Given the description of an element on the screen output the (x, y) to click on. 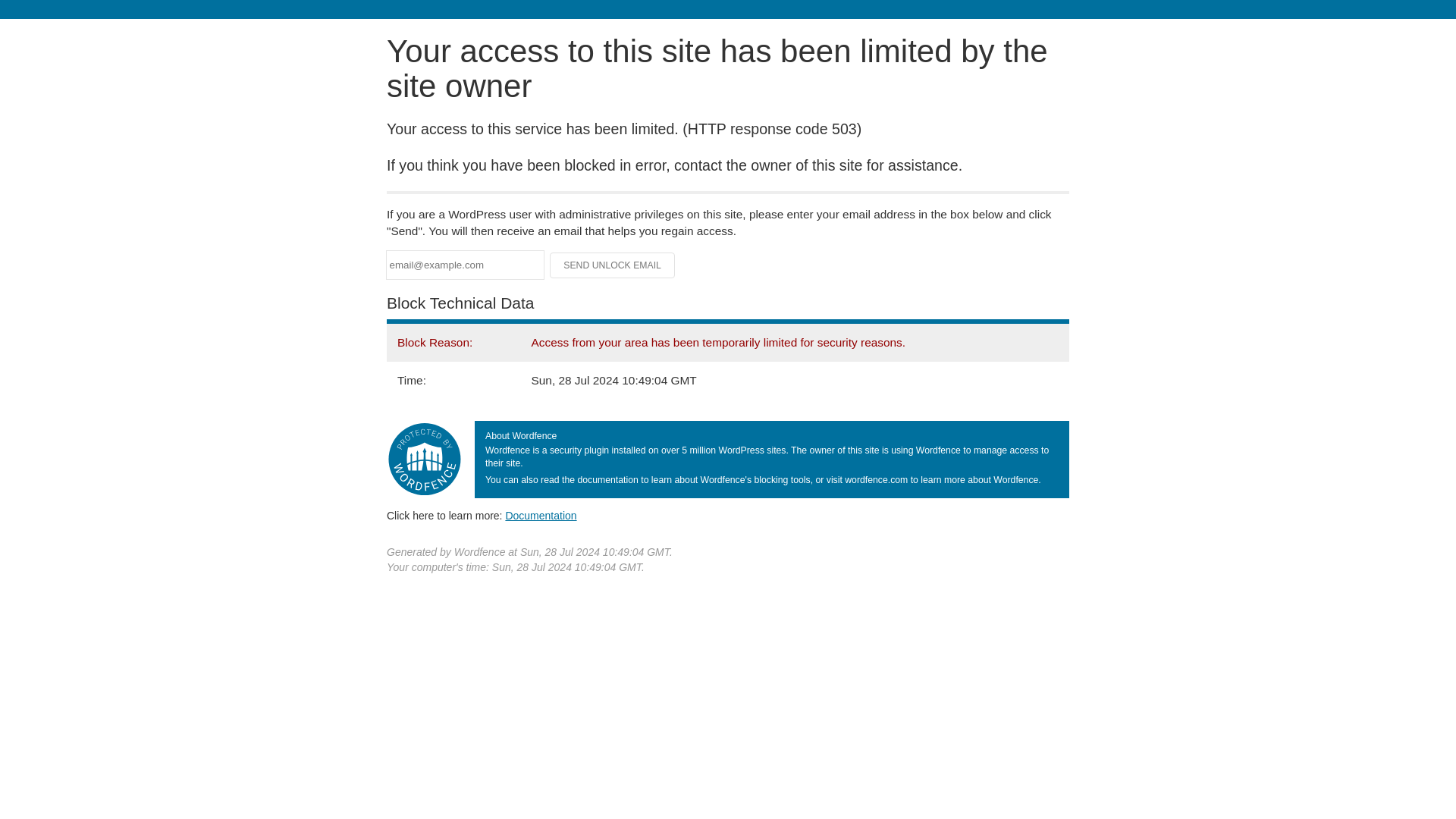
Send Unlock Email (612, 265)
Send Unlock Email (612, 265)
Documentation (540, 515)
